Given the description of an element on the screen output the (x, y) to click on. 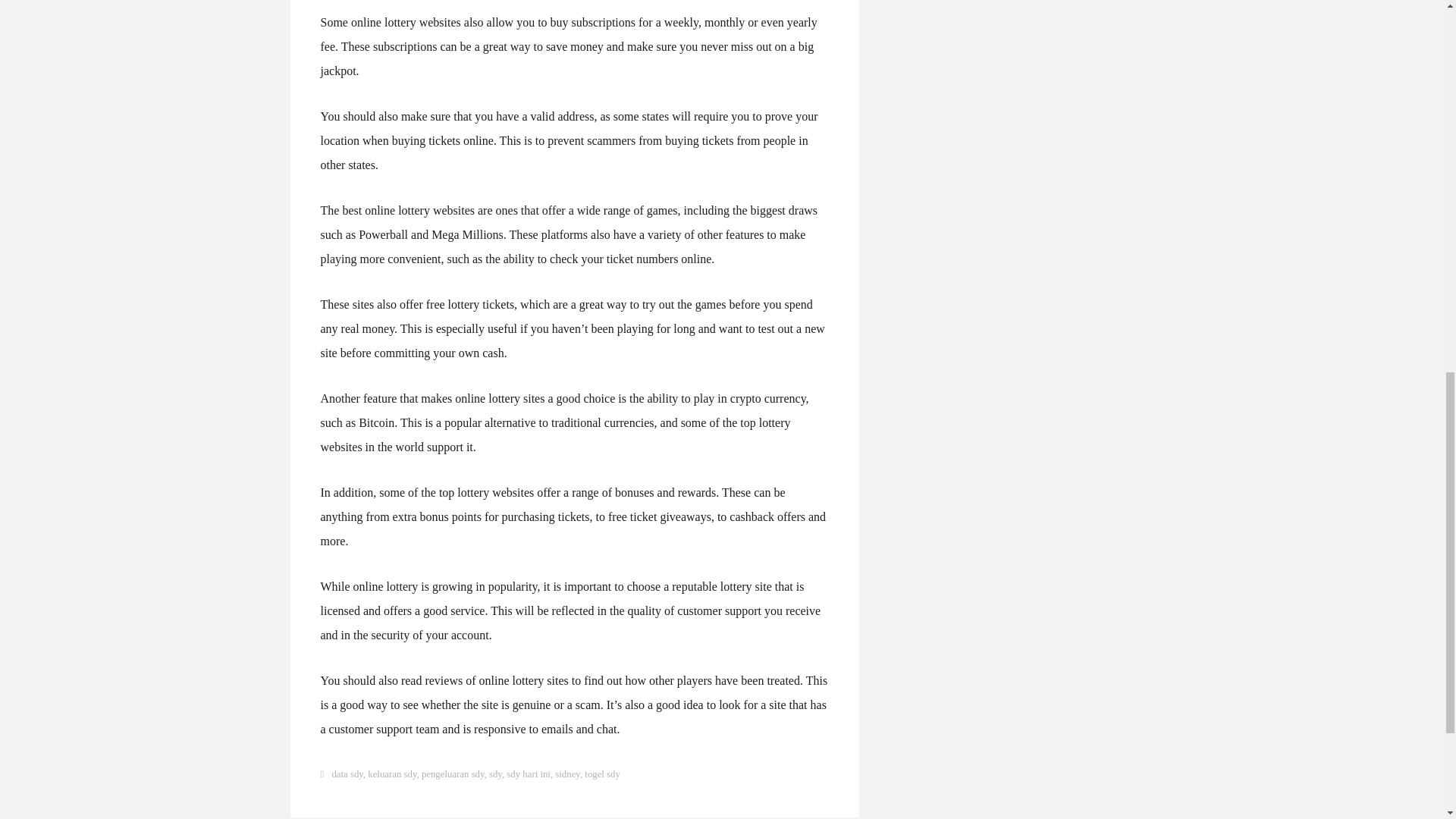
sdy hari ini (528, 774)
sdy (495, 774)
togel sdy (602, 774)
keluaran sdy (392, 774)
data sdy (346, 774)
sidney (566, 774)
pengeluaran sdy (453, 774)
